Given the description of an element on the screen output the (x, y) to click on. 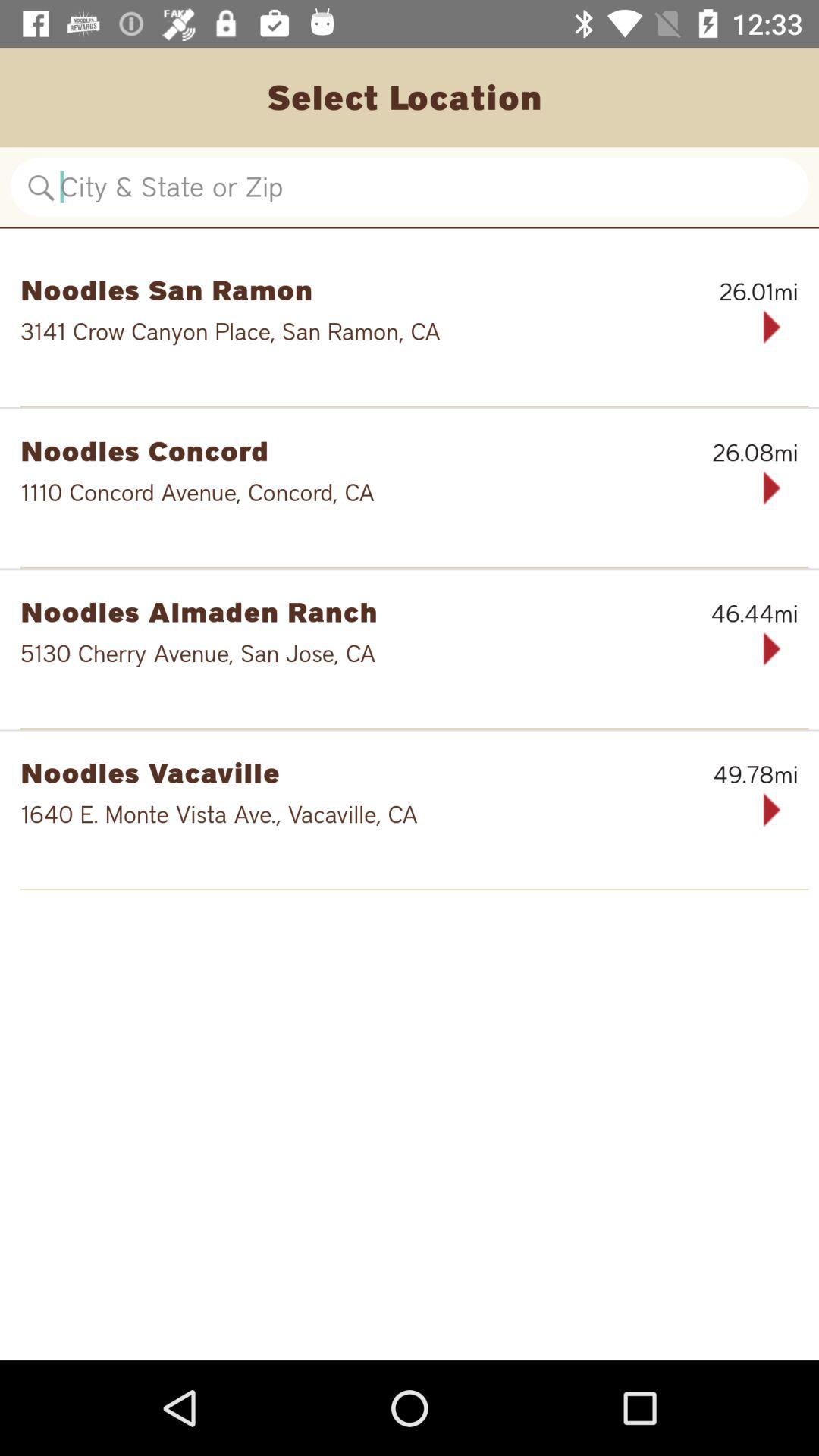
launch item to the left of the 26.08mi (331, 450)
